Given the description of an element on the screen output the (x, y) to click on. 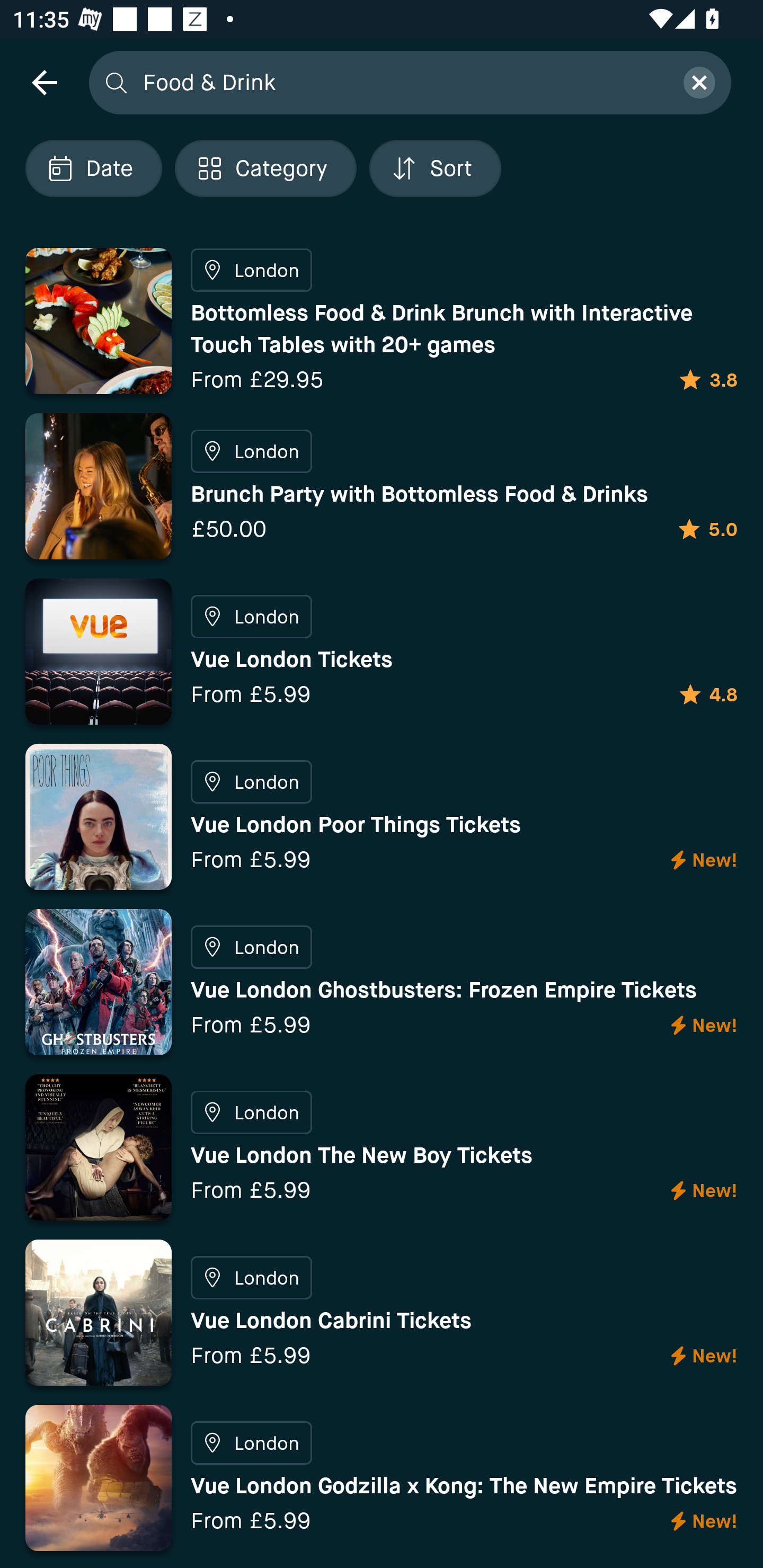
navigation icon (44, 81)
Food & Drink (402, 81)
Localized description Date (93, 168)
Localized description Category (265, 168)
Localized description Sort (435, 168)
